Given the description of an element on the screen output the (x, y) to click on. 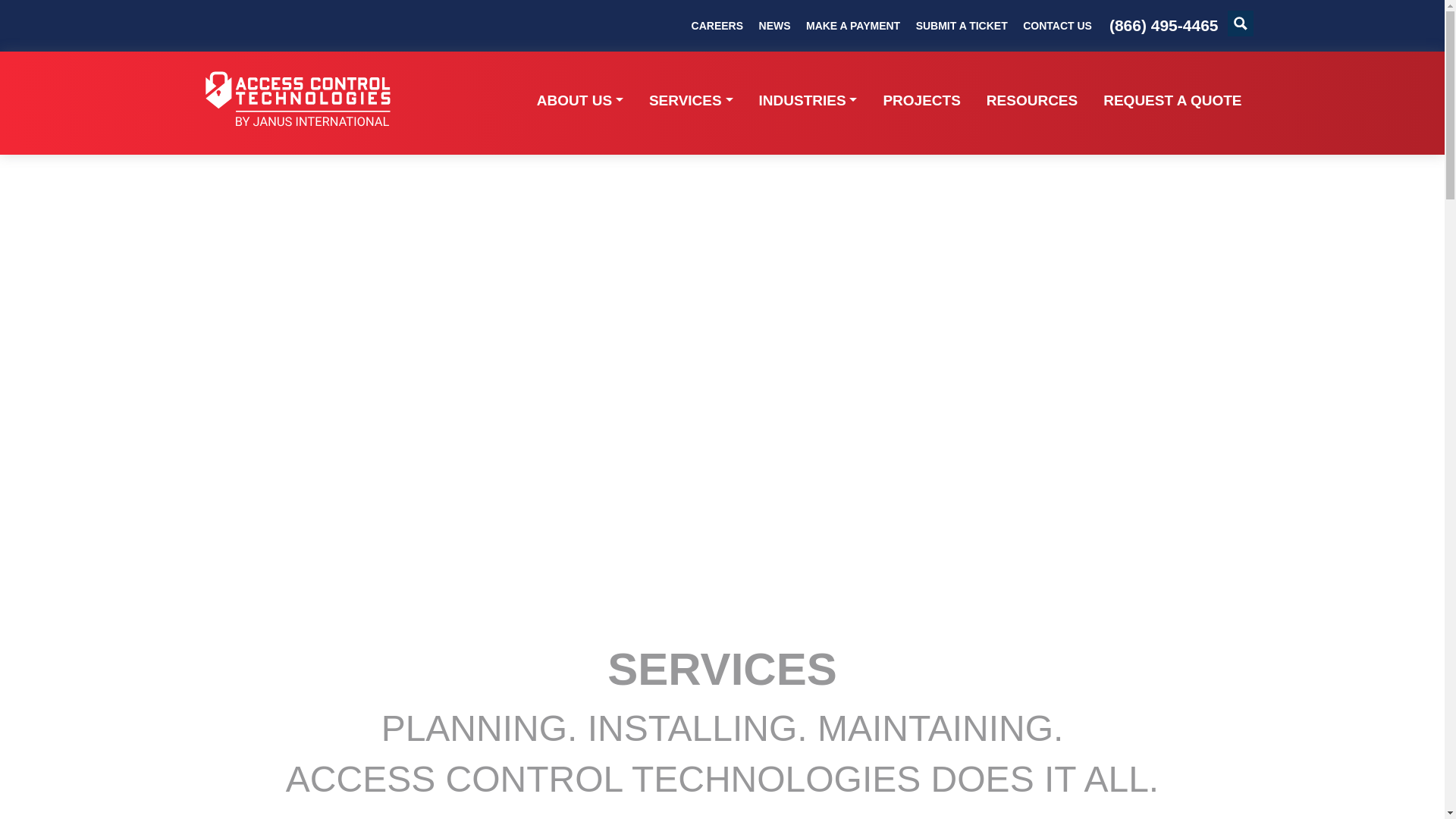
About Us (580, 100)
Industries (807, 100)
SERVICES (690, 100)
ABOUT US (580, 100)
REQUEST A QUOTE (1165, 100)
NEWS (774, 24)
MAKE A PAYMENT (852, 24)
Services (690, 100)
Resources (1032, 100)
CAREERS (717, 24)
